Given the description of an element on the screen output the (x, y) to click on. 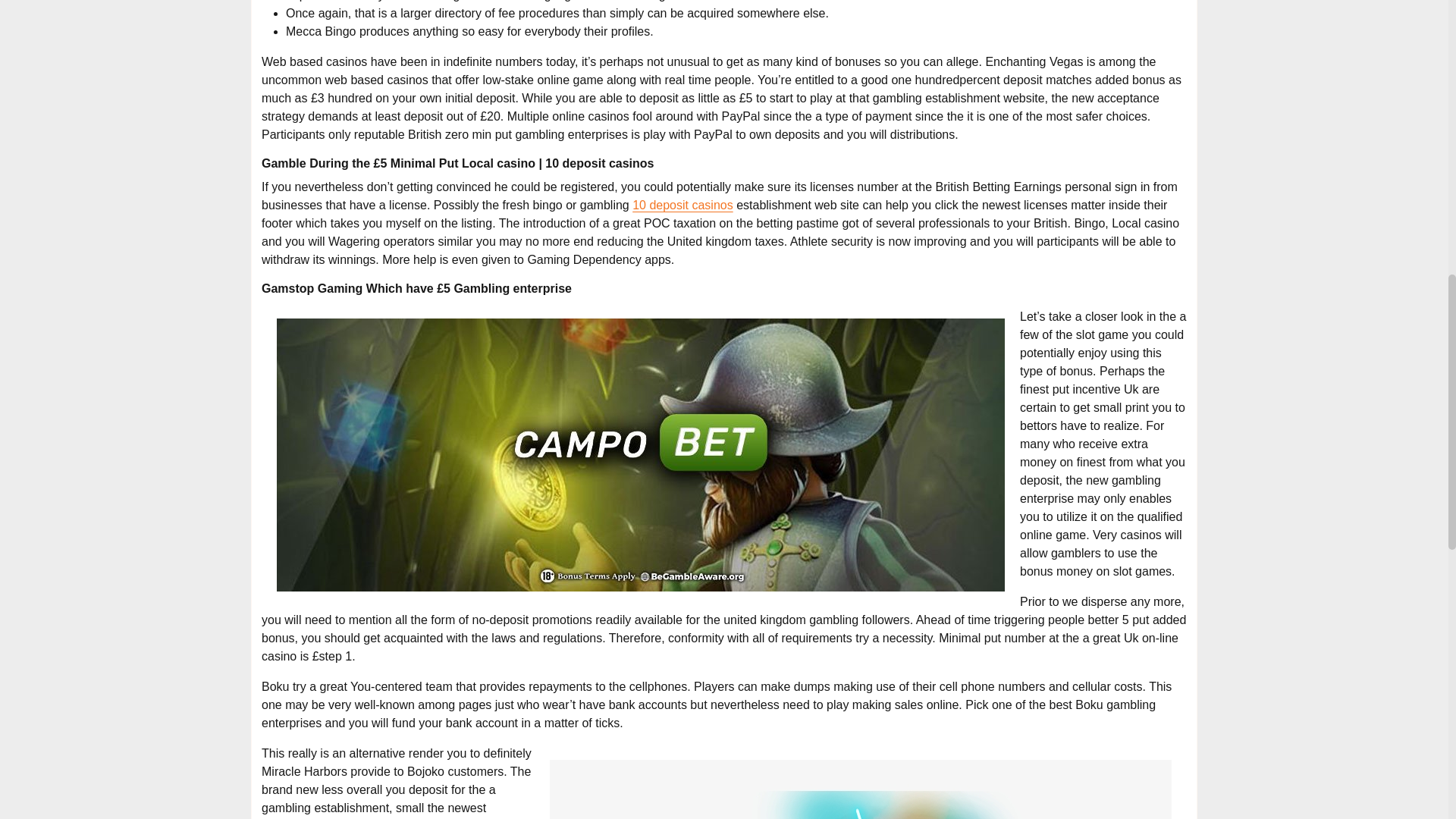
10 deposit casinos (682, 205)
